Given the description of an element on the screen output the (x, y) to click on. 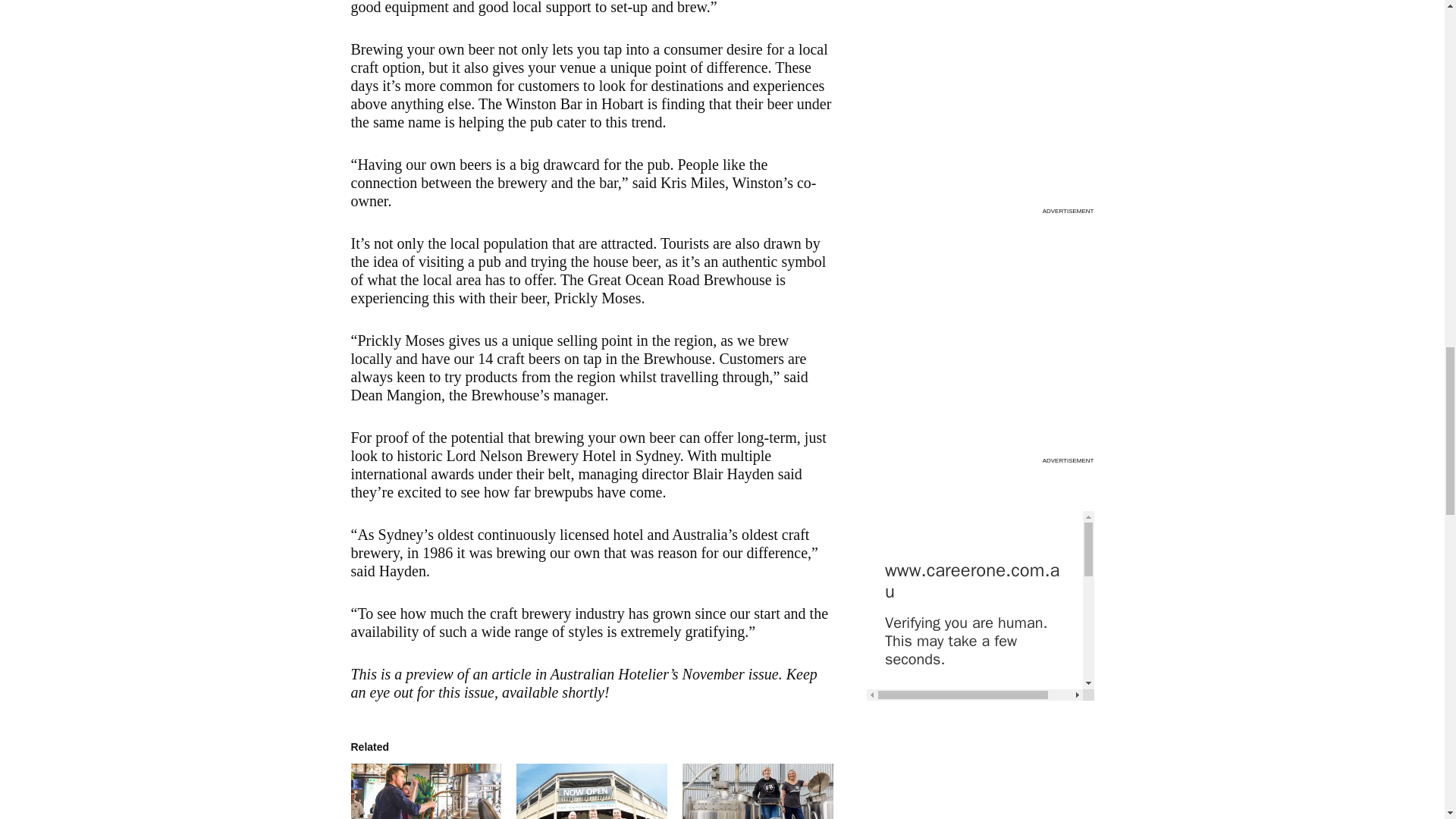
The profitable business of brewing your own beer (425, 791)
3rd party ad content (979, 100)
3rd party ad content (979, 356)
Two Birds Brewing celebrates fifth birthday (757, 791)
Otway Brewing owners become pub barons (591, 791)
